Given the description of an element on the screen output the (x, y) to click on. 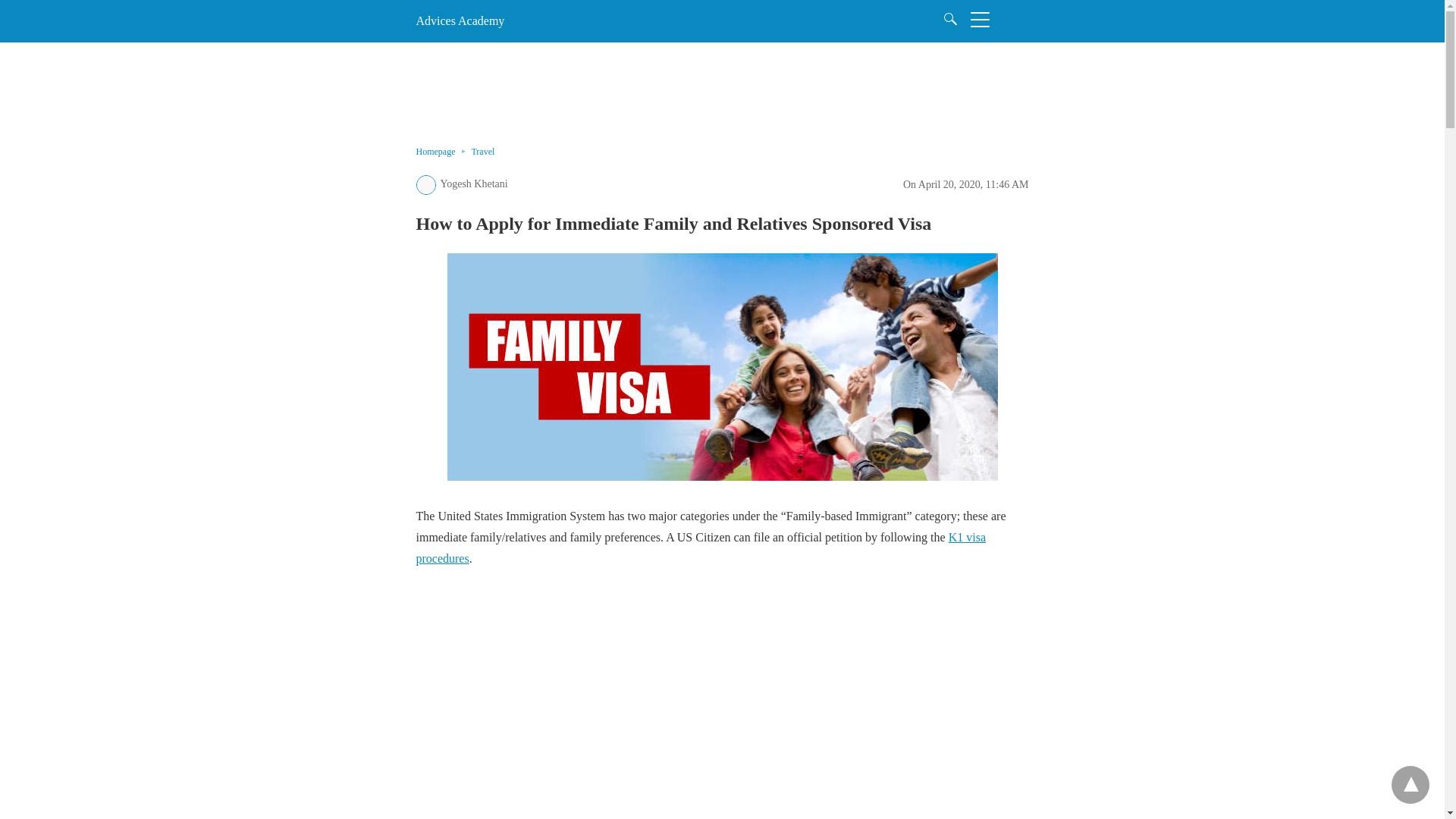
Advices Academy (458, 20)
back to top (1410, 784)
Travel (482, 151)
Homepage (442, 151)
Travel (482, 151)
Homepage (442, 151)
K1 visa procedures (699, 547)
